Given the description of an element on the screen output the (x, y) to click on. 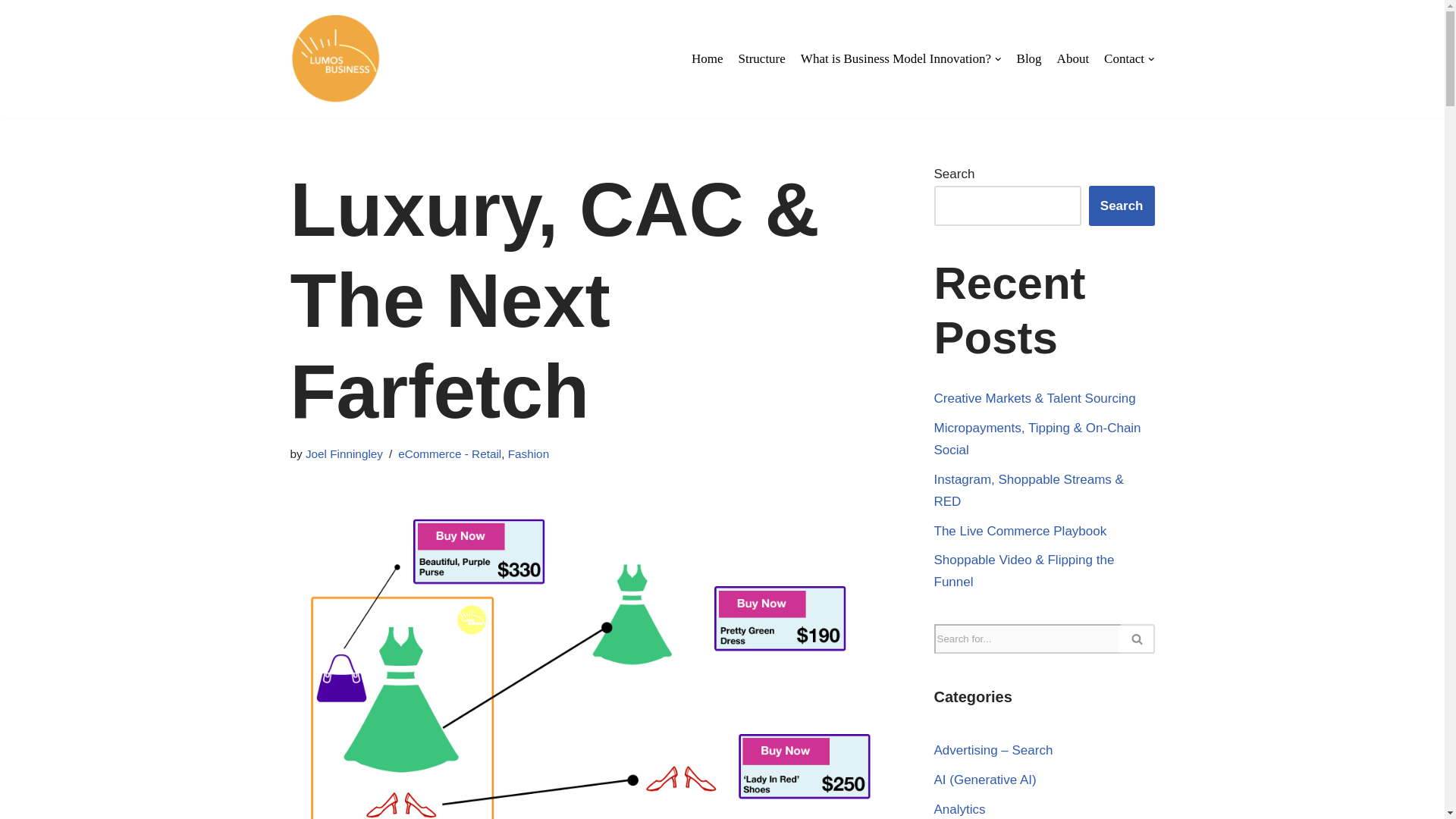
Business Models Innovation (334, 58)
Contact (1128, 58)
Joel Finningley (343, 453)
Structure (762, 58)
Home (707, 58)
Fashion (528, 453)
Blog (1029, 58)
About (1073, 58)
What is Business Model Innovation? (900, 58)
Skip to content (11, 31)
eCommerce - Retail (448, 453)
Posts by Joel Finningley (343, 453)
